Given the description of an element on the screen output the (x, y) to click on. 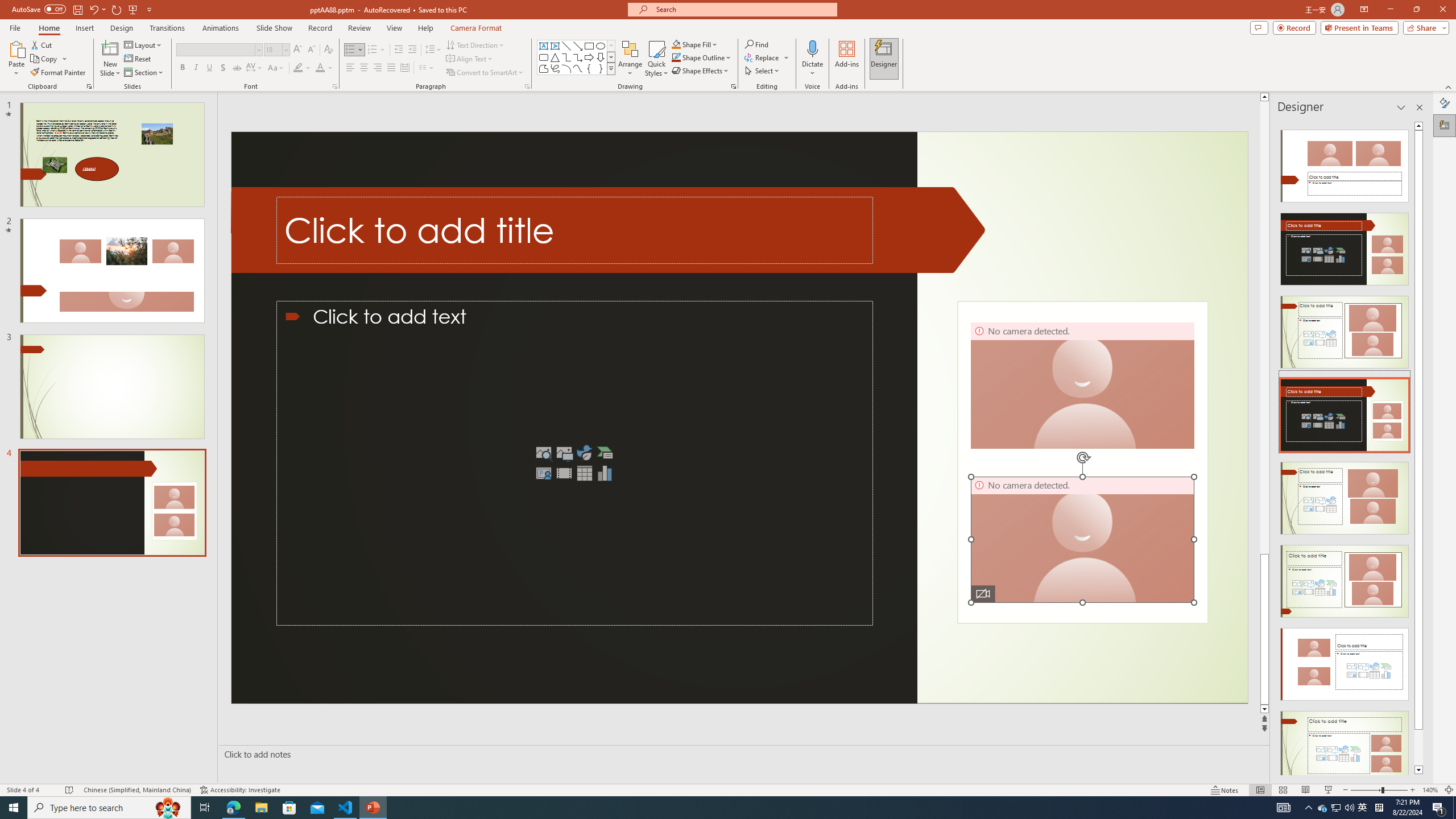
Select (762, 69)
Restore Down (1416, 9)
Copy (45, 58)
Dictate (812, 48)
Freeform: Scribble (554, 68)
Bold (182, 67)
Row up (611, 45)
Convert to SmartArt (485, 72)
Decrease Indent (398, 49)
Paragraph... (526, 85)
